Given the description of an element on the screen output the (x, y) to click on. 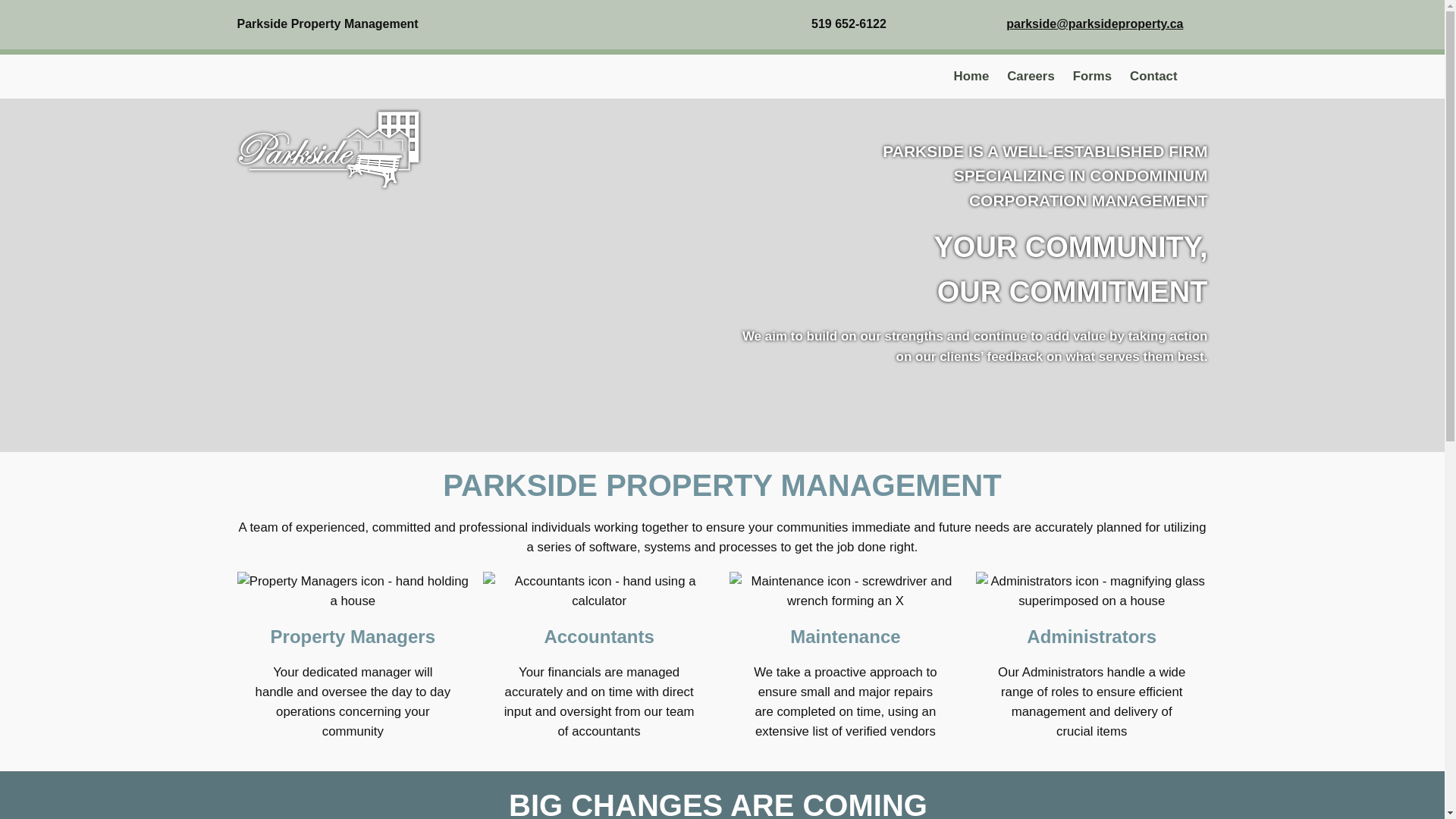
Home (971, 76)
Forms (1092, 76)
Contact (1152, 76)
Parkside-reverse-logo (327, 150)
Careers (1030, 76)
